Given the description of an element on the screen output the (x, y) to click on. 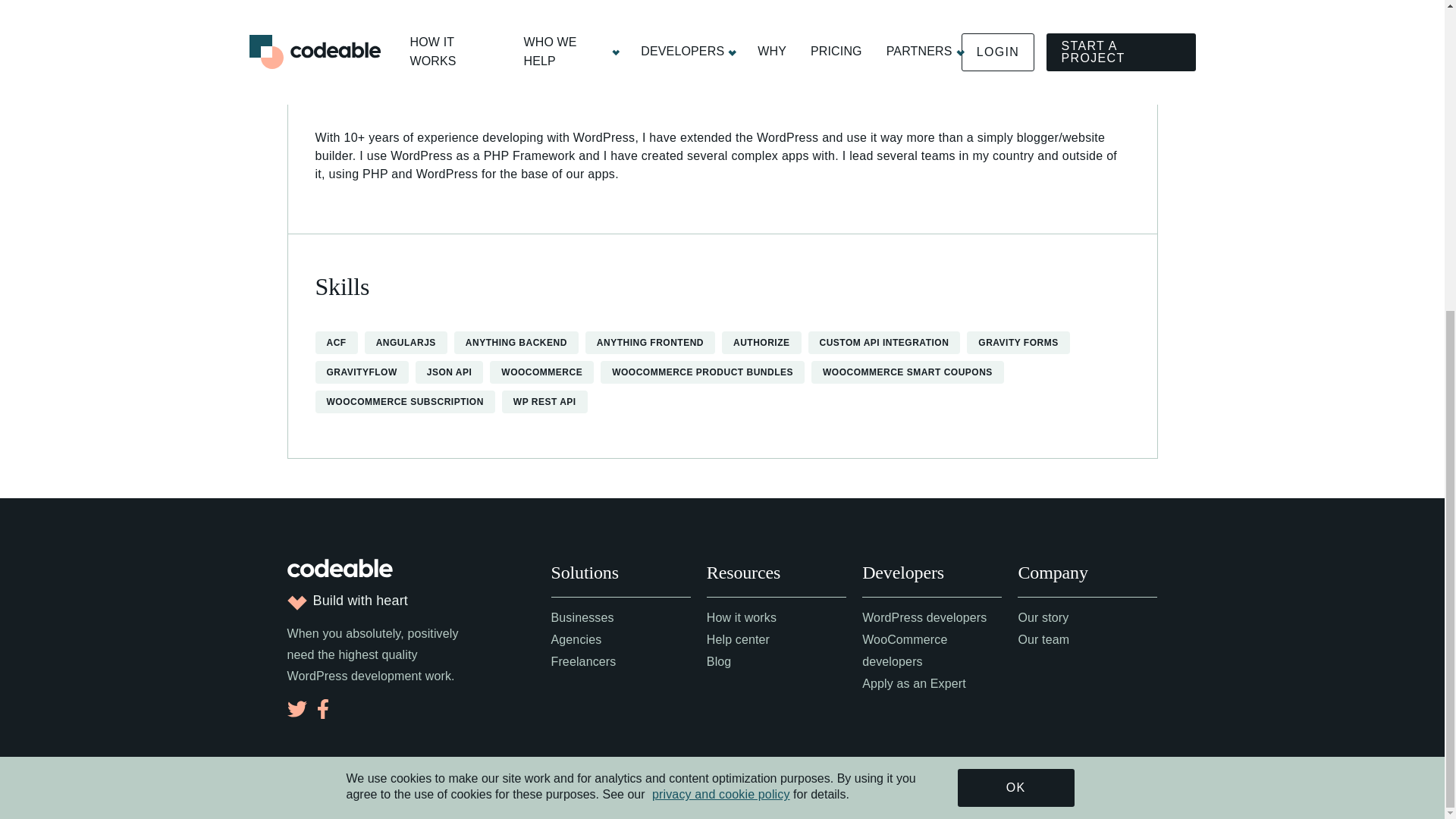
facebook (322, 709)
ANGULARJS (405, 342)
GRAVITYFLOW (361, 371)
ABOUT (334, 82)
GRAVITY FORMS (1018, 342)
ANYTHING FRONTEND (649, 342)
OK (1016, 293)
ACF (336, 342)
privacy and cookie policy (721, 299)
JSON API (448, 371)
WOOCOMMERCE (541, 371)
ANYTHING BACKEND (516, 342)
AUTHORIZE (761, 342)
CUSTOM API INTEGRATION (884, 342)
twitter (295, 709)
